Given the description of an element on the screen output the (x, y) to click on. 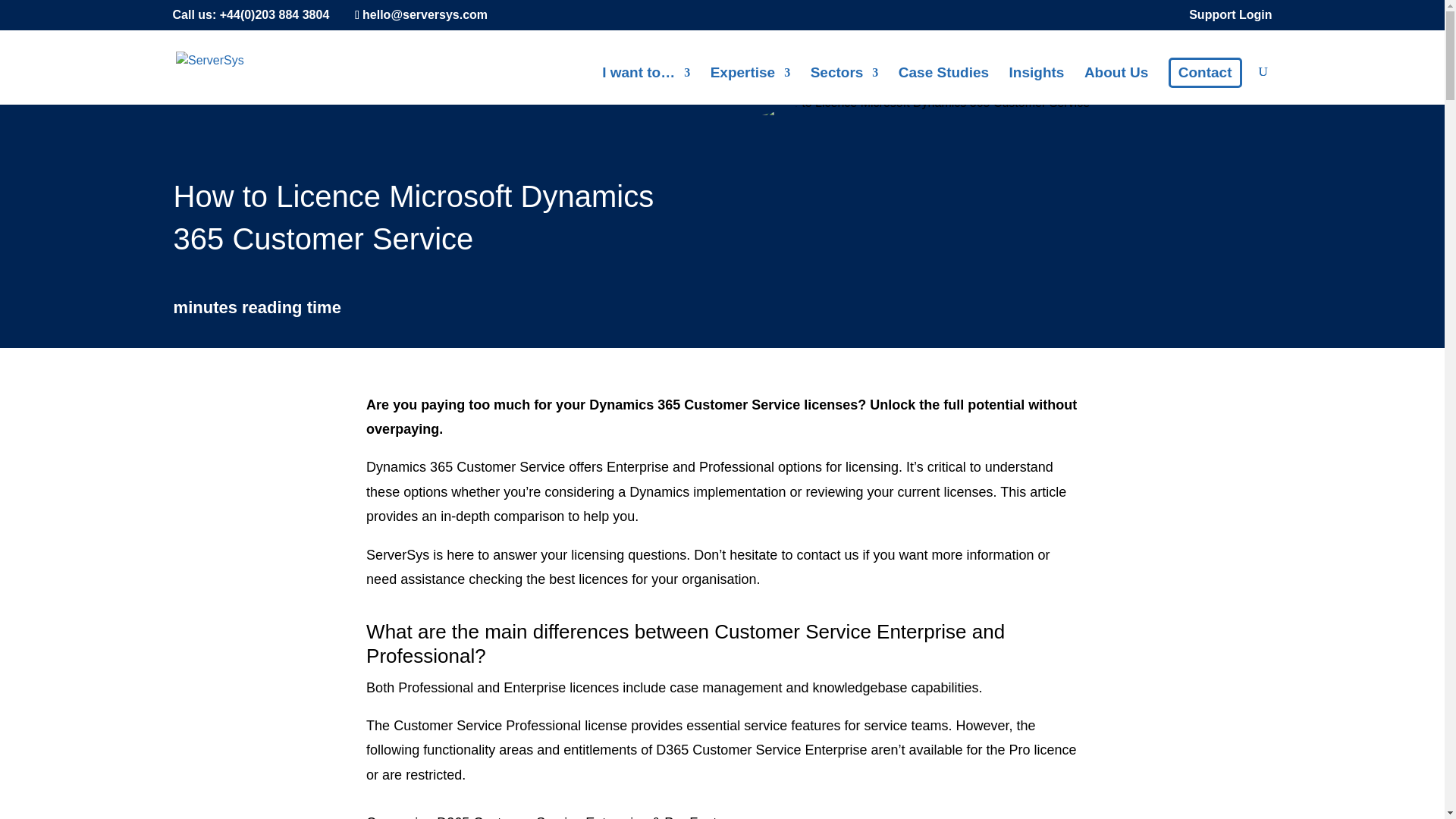
Contact (1205, 72)
About Us (1116, 85)
Sectors (844, 85)
Expertise (750, 85)
Case Studies (943, 85)
How to Licence Microsoft Dynamics 365 Customer Service (925, 109)
Support Login (1230, 19)
Insights (1036, 85)
